Given the description of an element on the screen output the (x, y) to click on. 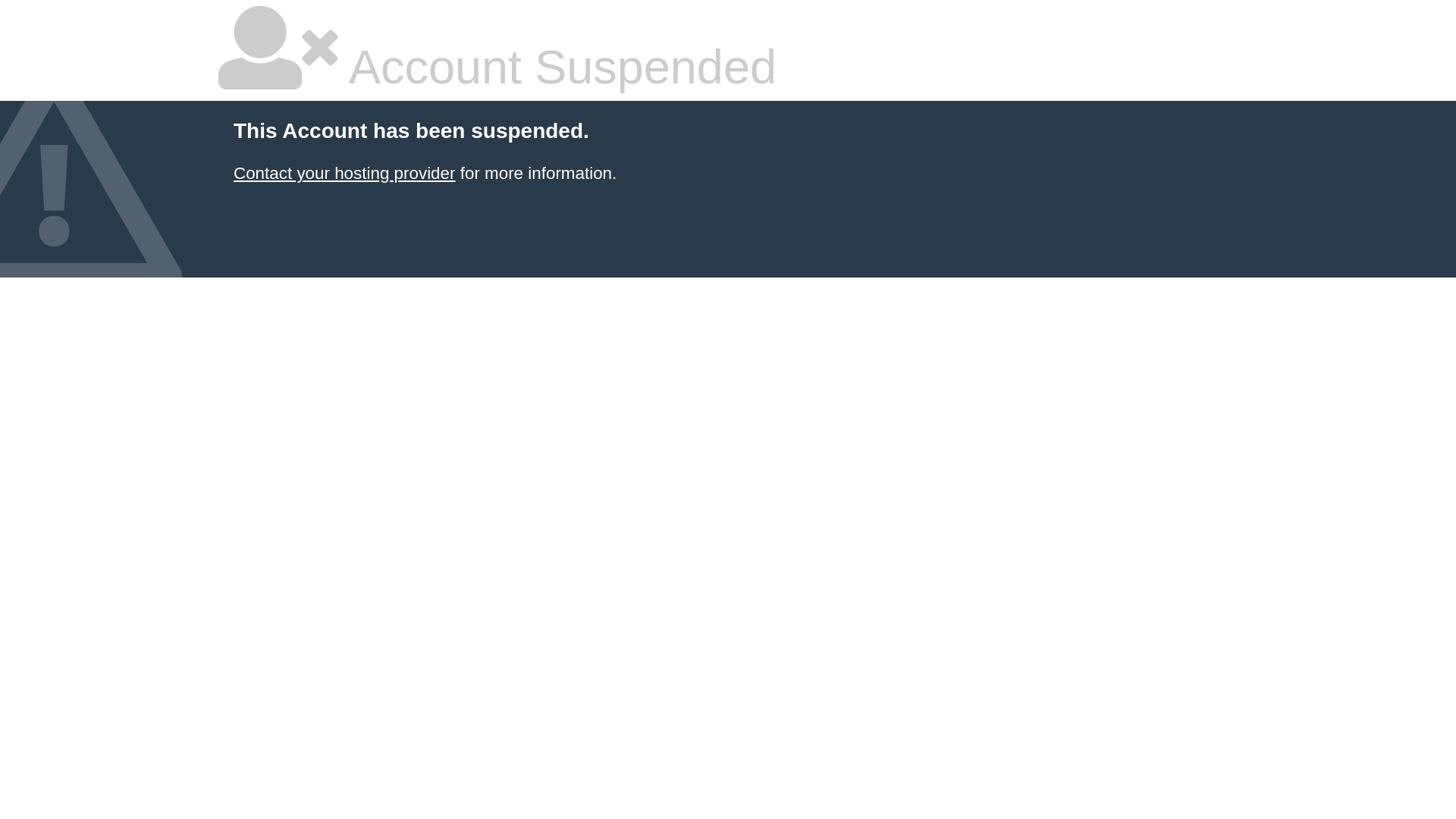
Contact your hosting provider Element type: text (344, 172)
